Given the description of an element on the screen output the (x, y) to click on. 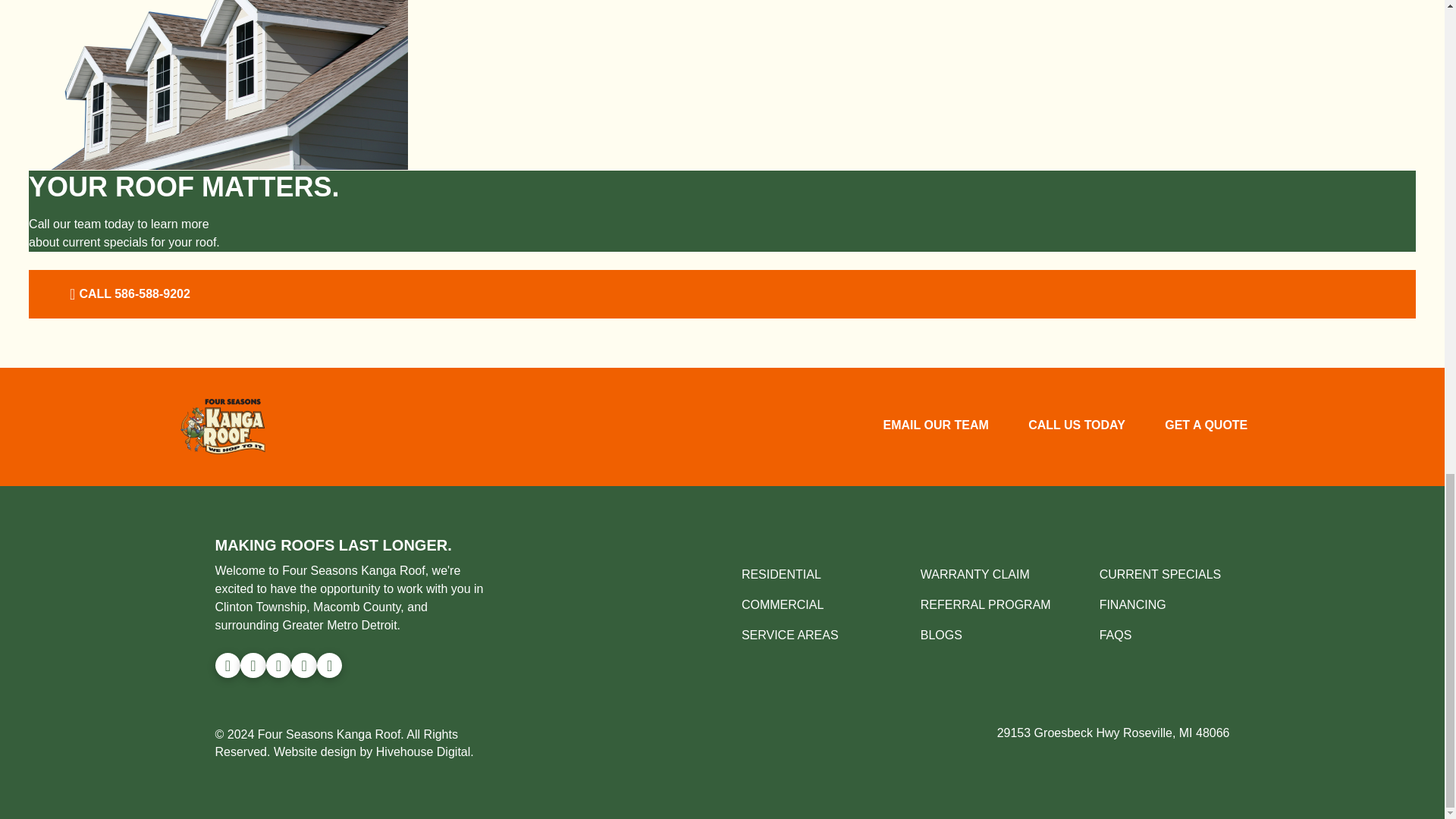
CALL 586-588-9202 (127, 294)
CALL US TODAY (1076, 425)
FAQS (1115, 634)
REFERRAL PROGRAM (985, 604)
BLOGS (941, 634)
FINANCING (1132, 604)
COMMERCIAL (782, 604)
RESIDENTIAL (781, 574)
CURRENT SPECIALS (1160, 574)
EMAIL OUR TEAM (935, 425)
SERVICE AREAS (789, 634)
Website design by Hivehouse Digital. (373, 751)
GET A QUOTE (1205, 425)
WARRANTY CLAIM (974, 574)
